Given the description of an element on the screen output the (x, y) to click on. 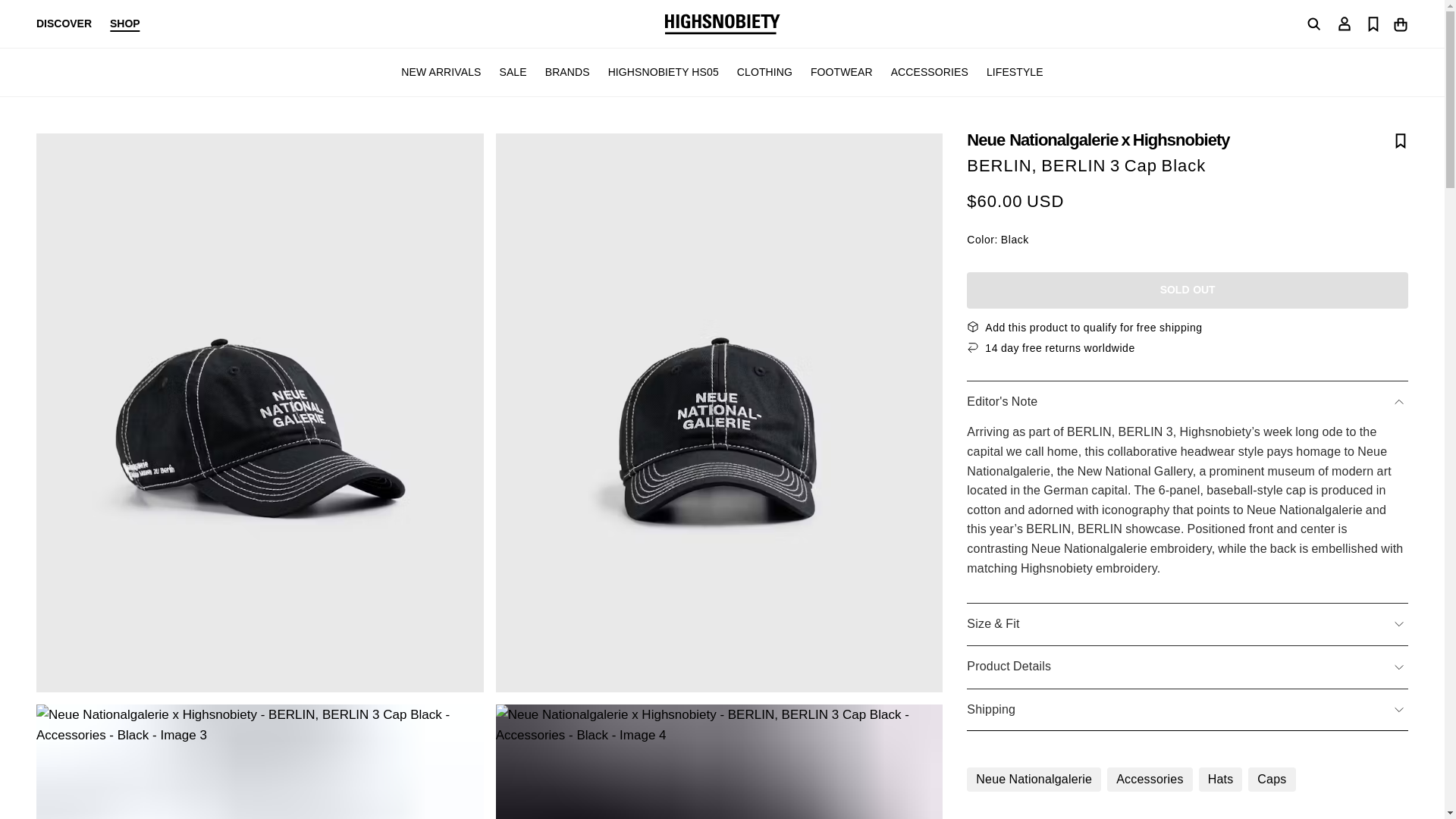
Go To Search (1314, 23)
Go To Saved (1372, 23)
Highsnobiety (720, 24)
Go To Account (1344, 23)
Go To Shopping Cart (1400, 23)
